Given the description of an element on the screen output the (x, y) to click on. 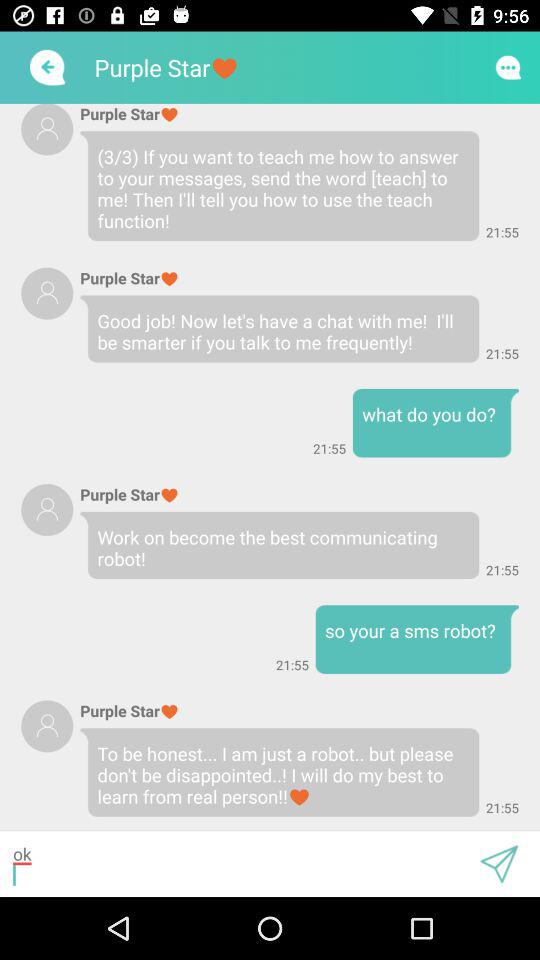
send message (499, 864)
